Given the description of an element on the screen output the (x, y) to click on. 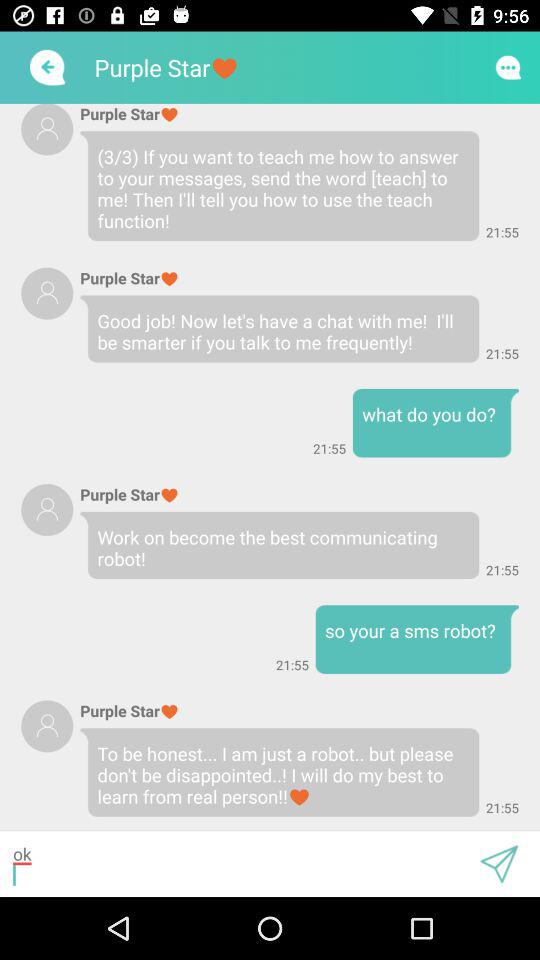
send message (499, 864)
